Given the description of an element on the screen output the (x, y) to click on. 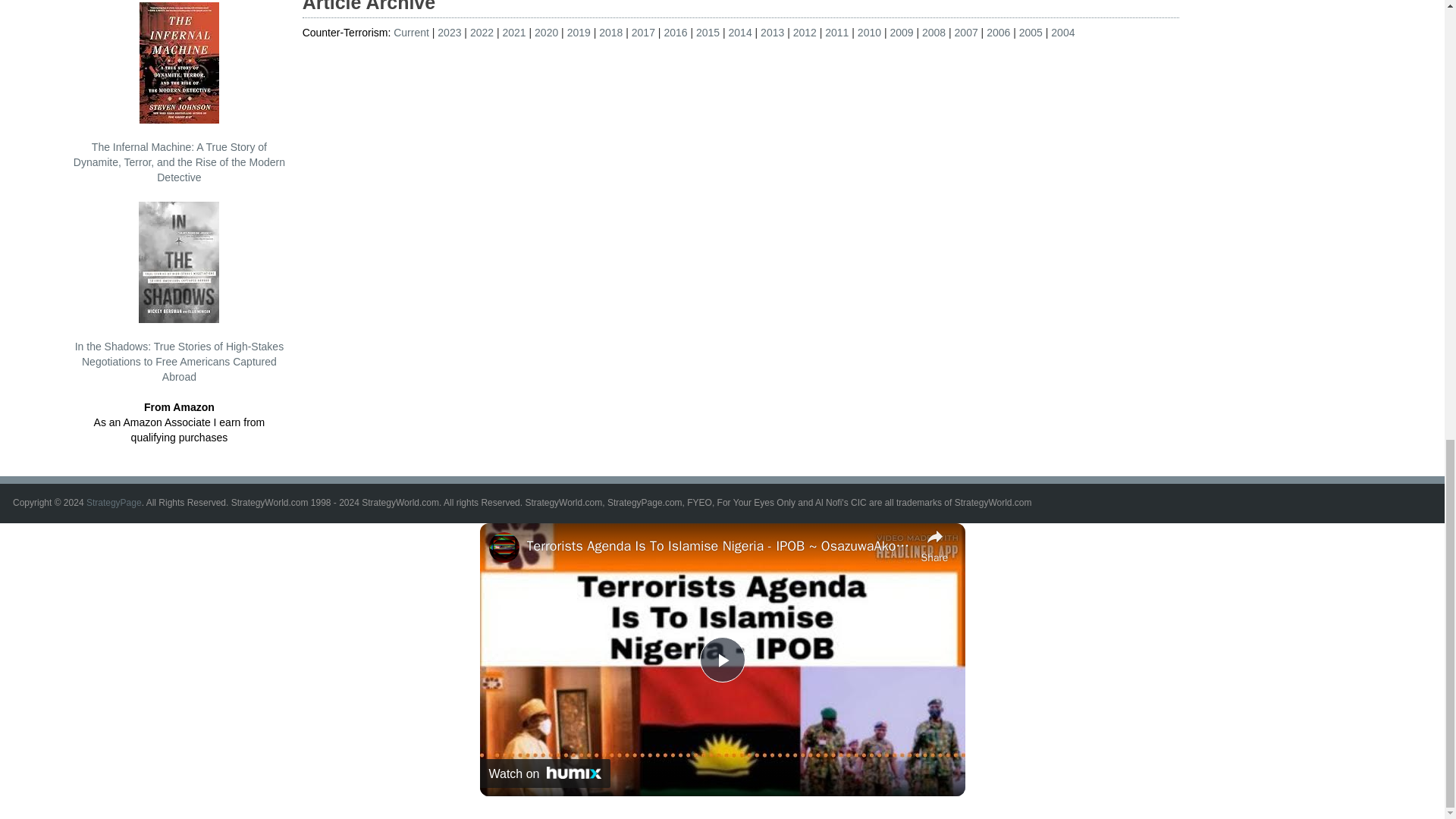
Play Video (721, 659)
